Given the description of an element on the screen output the (x, y) to click on. 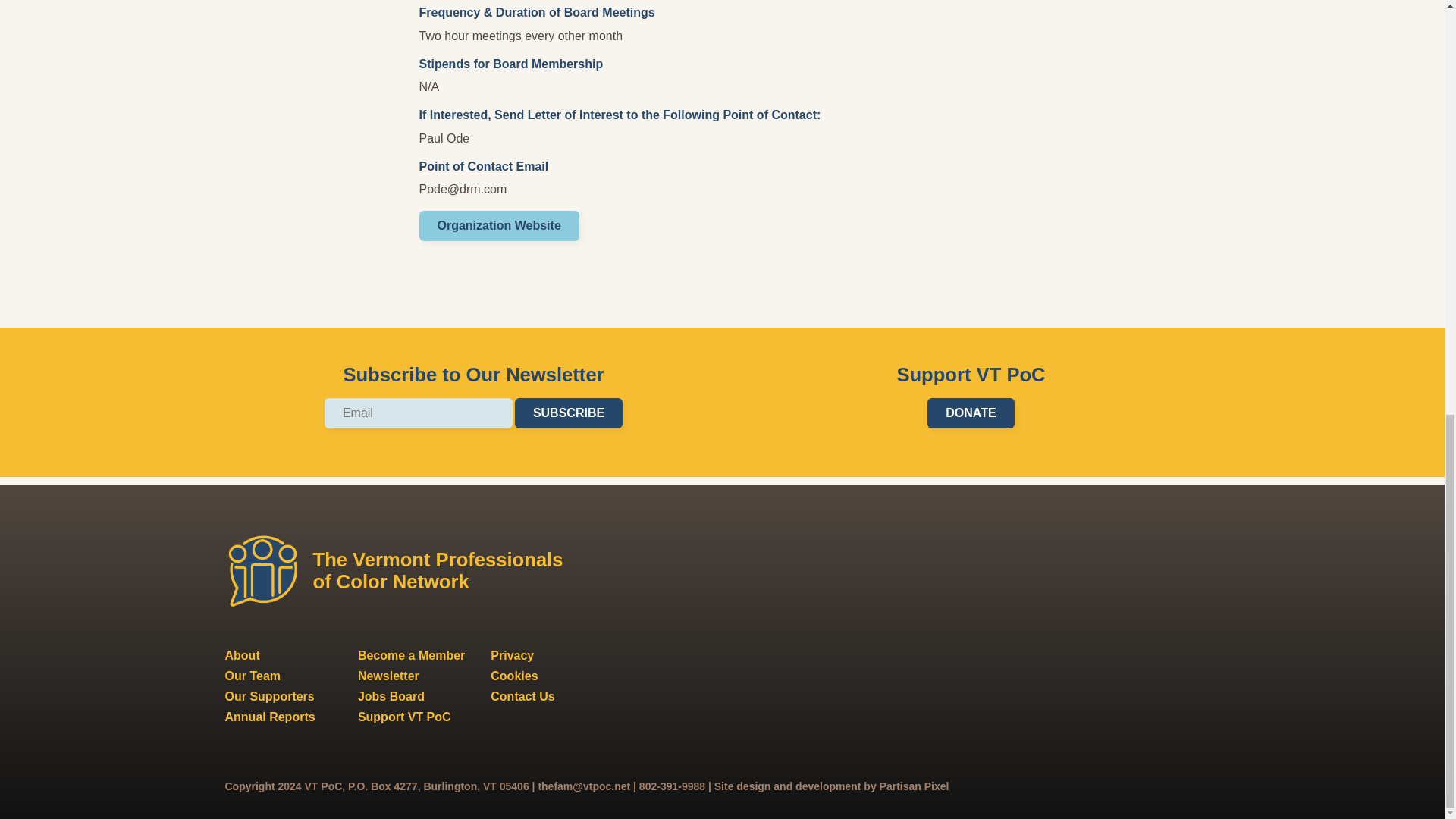
The Vermont Professionals of Color Network (401, 571)
SUBSCRIBE (569, 413)
SUBSCRIBE (569, 413)
Our Team (252, 675)
Become a Member (411, 655)
Our Supporters (269, 696)
Annual Reports (269, 716)
DONATE (970, 413)
About (241, 655)
Organization Website (498, 225)
